Given the description of an element on the screen output the (x, y) to click on. 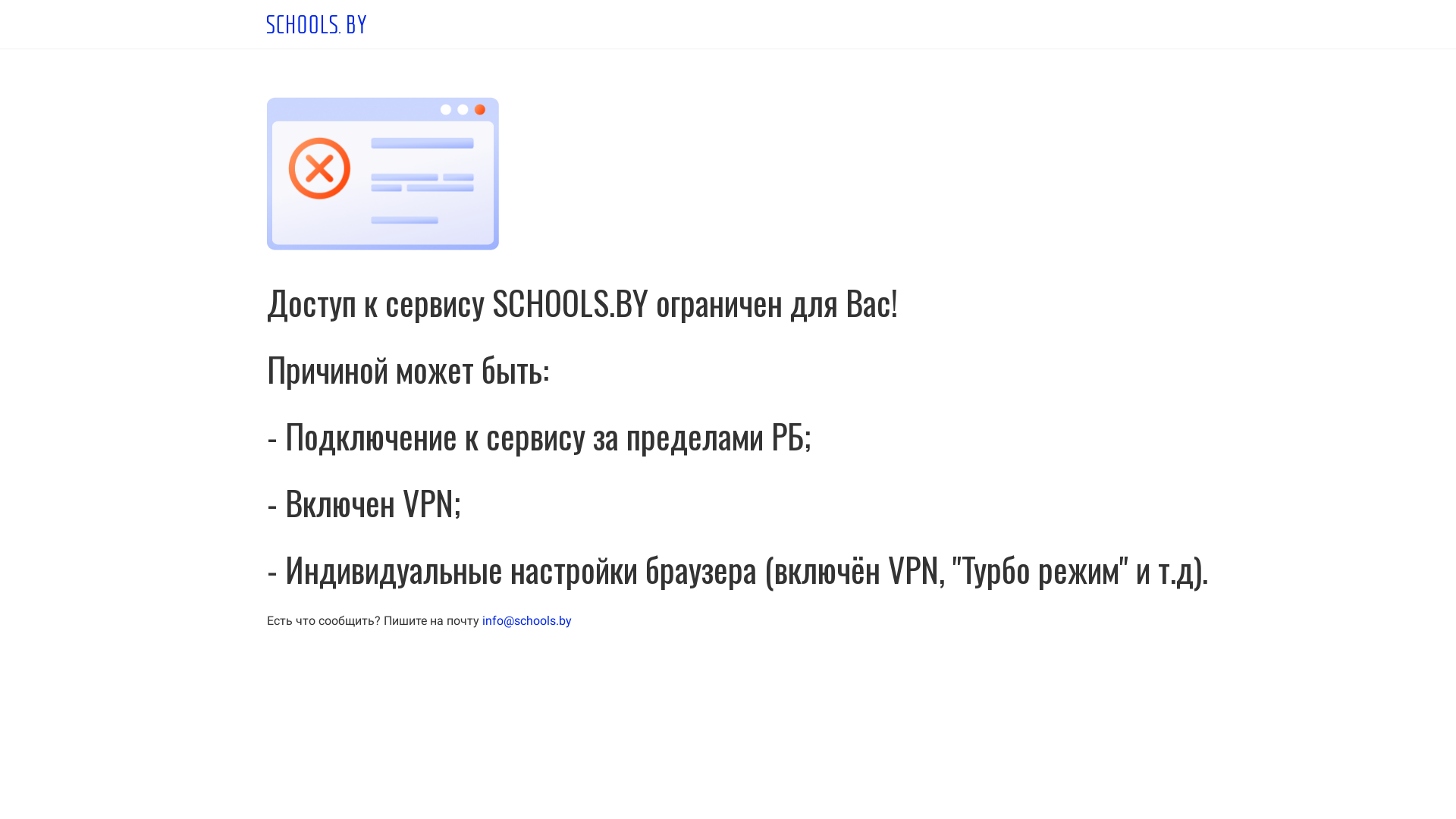
info@schools.by Element type: text (526, 620)
